Given the description of an element on the screen output the (x, y) to click on. 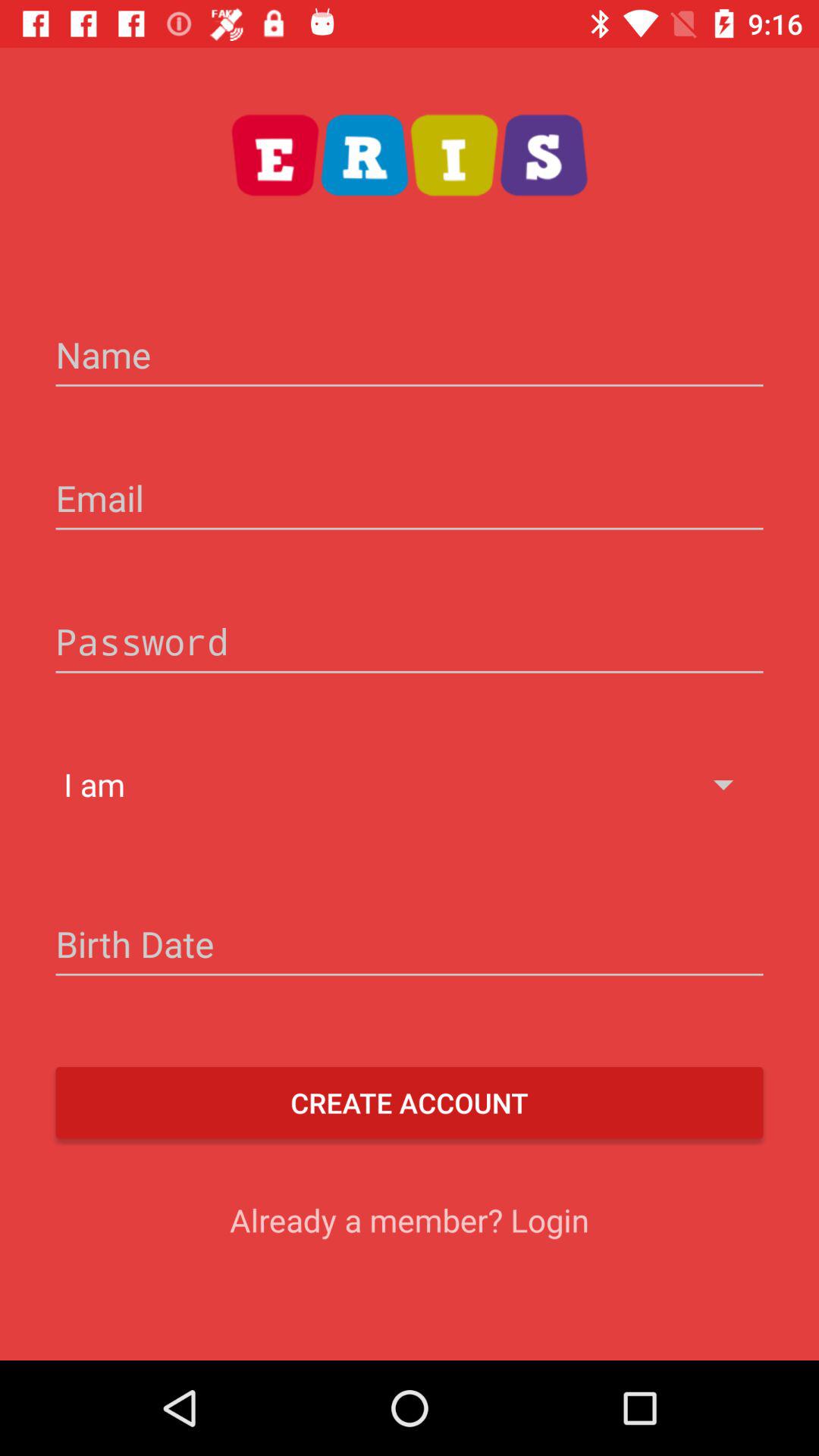
press the icon below the i am icon (409, 946)
